Given the description of an element on the screen output the (x, y) to click on. 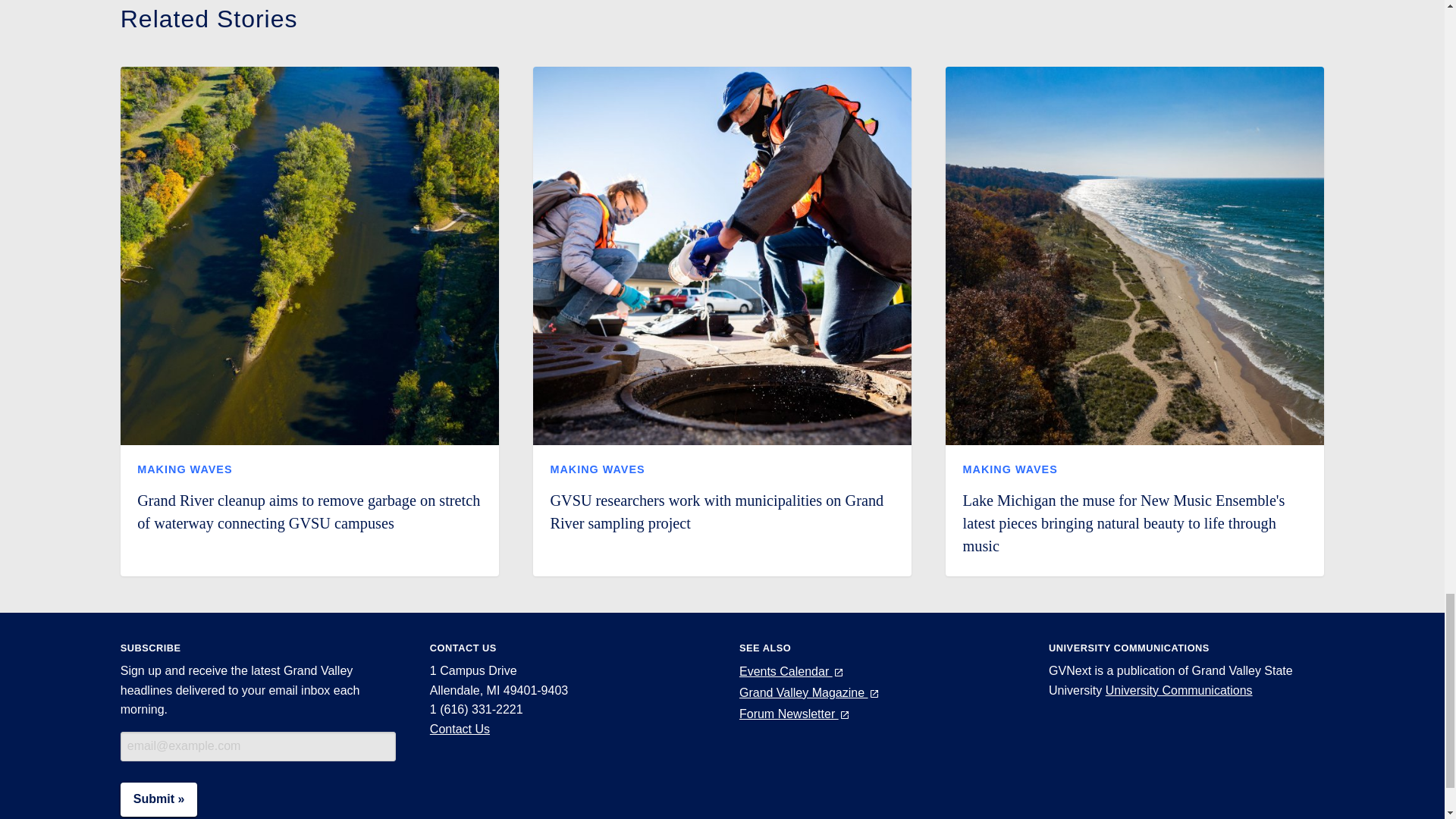
MAKING WAVES (597, 469)
University Communications (1178, 689)
Events Calendar (791, 671)
Forum Newsletter (794, 713)
Grand Valley Magazine (809, 692)
MAKING WAVES (183, 469)
Contact Us (459, 728)
